Given the description of an element on the screen output the (x, y) to click on. 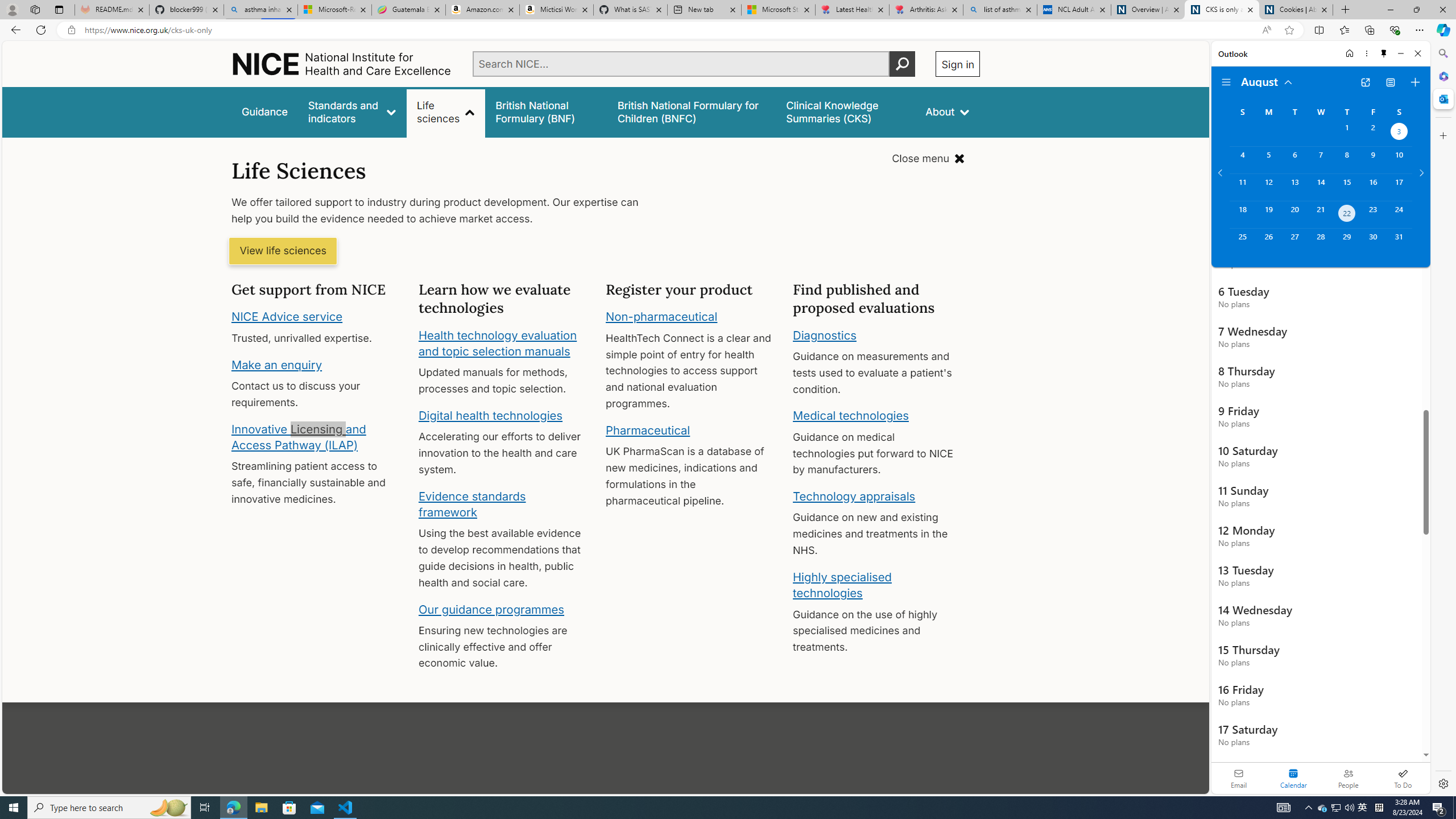
View Switcher. Current view is Agenda view (1390, 82)
Innovative Licensing and Access Pathway (ILAP) (298, 436)
Perform search (902, 63)
Life sciences (446, 111)
Selected calendar module. Date today is 22 (1293, 777)
Digital health technologies (490, 414)
Our guidance programmes (490, 608)
Thursday, August 8, 2024.  (1346, 159)
CKS is only available in the UK | NICE (1221, 9)
